Given the description of an element on the screen output the (x, y) to click on. 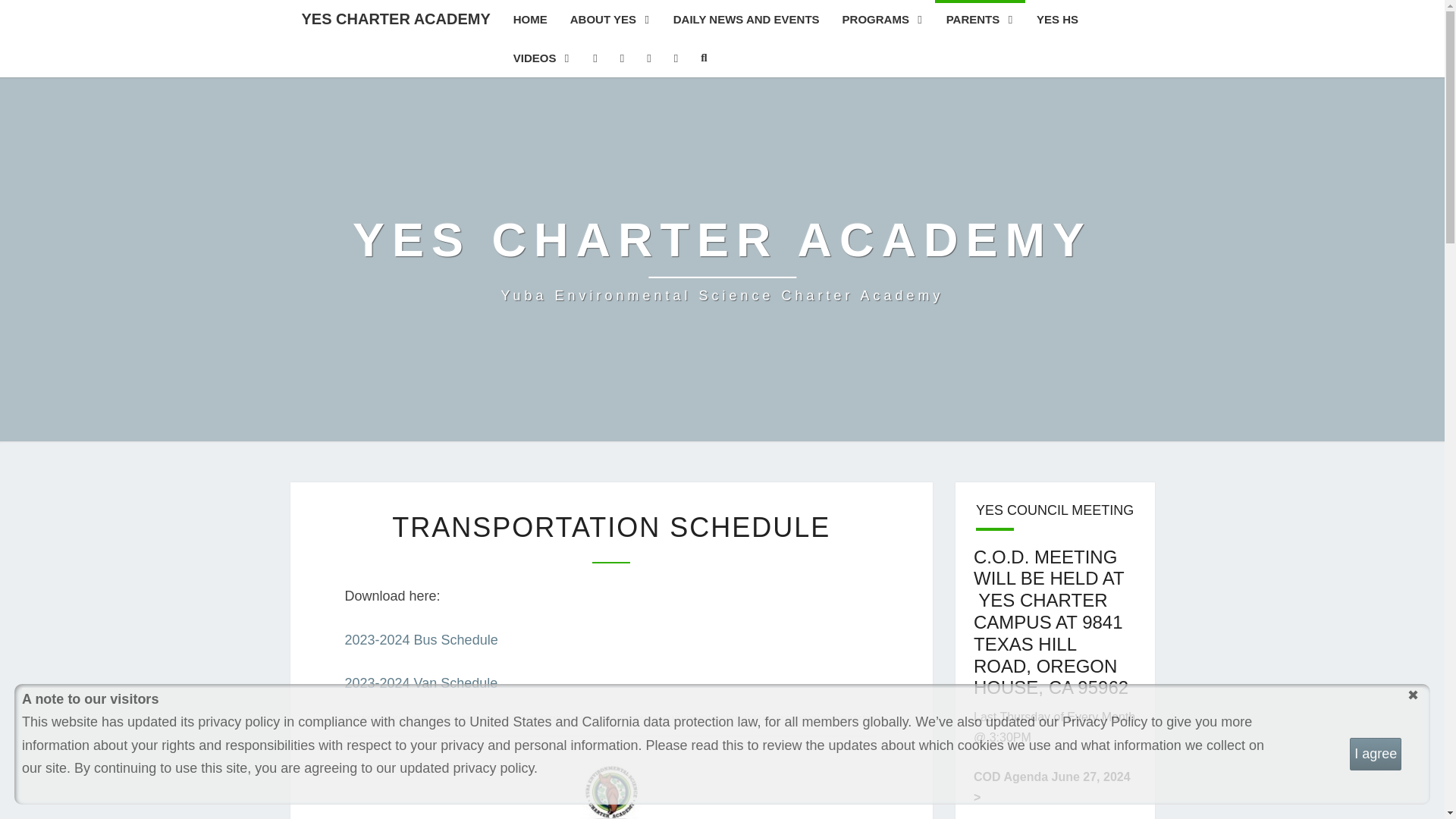
PARENTS (979, 19)
DAILY NEWS AND EVENTS (746, 19)
YES Charter Academy (722, 259)
PROGRAMS (882, 19)
HOME (530, 19)
YES CHARTER ACADEMY (394, 18)
ABOUT YES (610, 19)
